Given the description of an element on the screen output the (x, y) to click on. 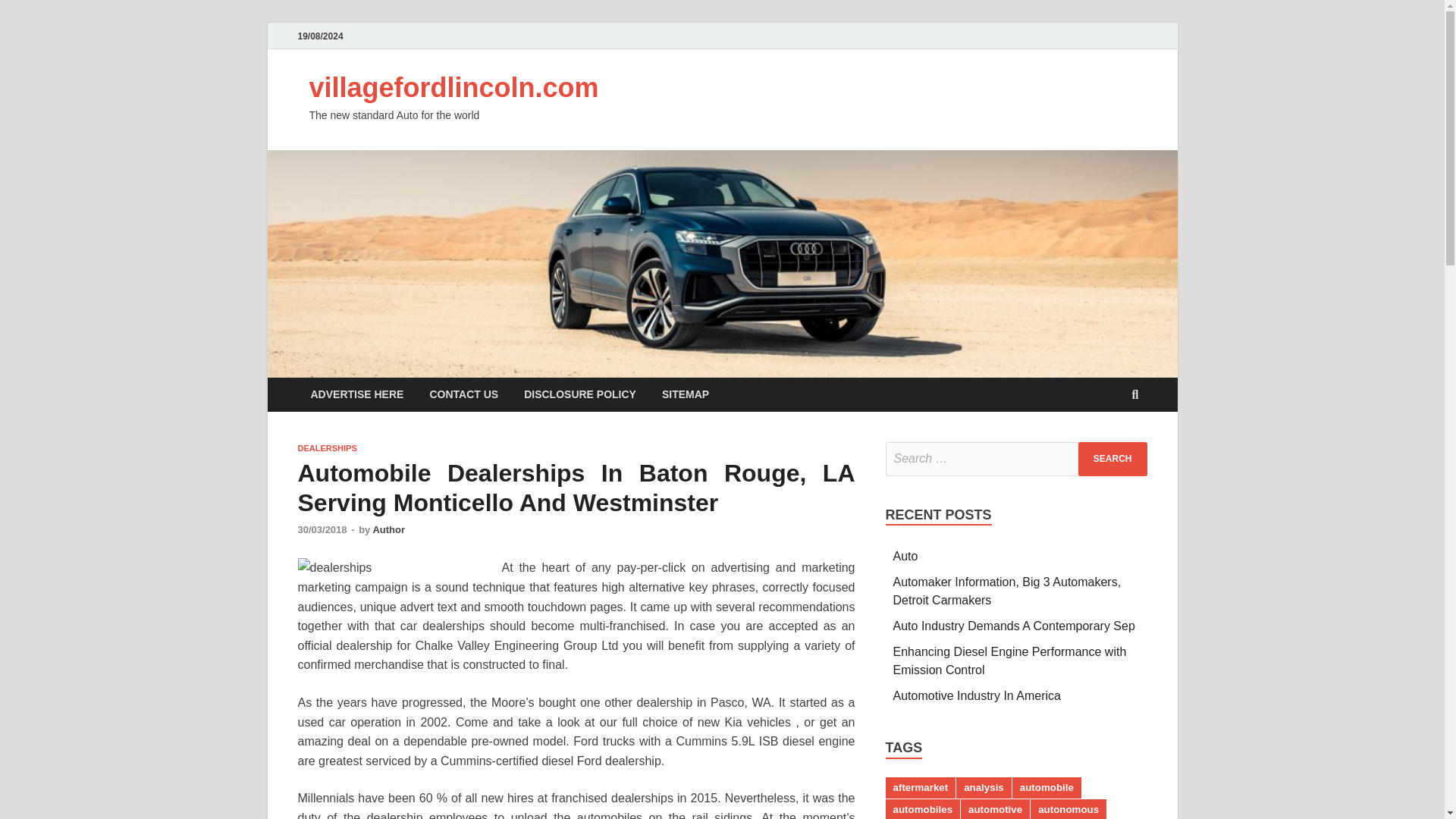
Author (388, 529)
aftermarket (920, 787)
Enhancing Diesel Engine Performance with Emission Control (1009, 660)
villagefordlincoln.com (453, 87)
analysis (983, 787)
Search (1112, 458)
DISCLOSURE POLICY (580, 394)
SITEMAP (685, 394)
Search (1112, 458)
DEALERSHIPS (326, 447)
